Given the description of an element on the screen output the (x, y) to click on. 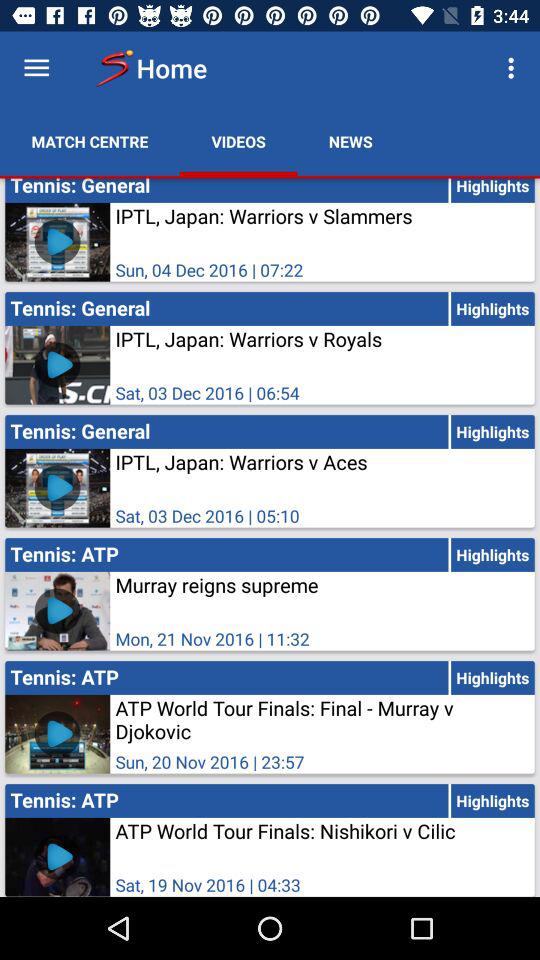
tap the icon above tennis: general icon (350, 141)
